Given the description of an element on the screen output the (x, y) to click on. 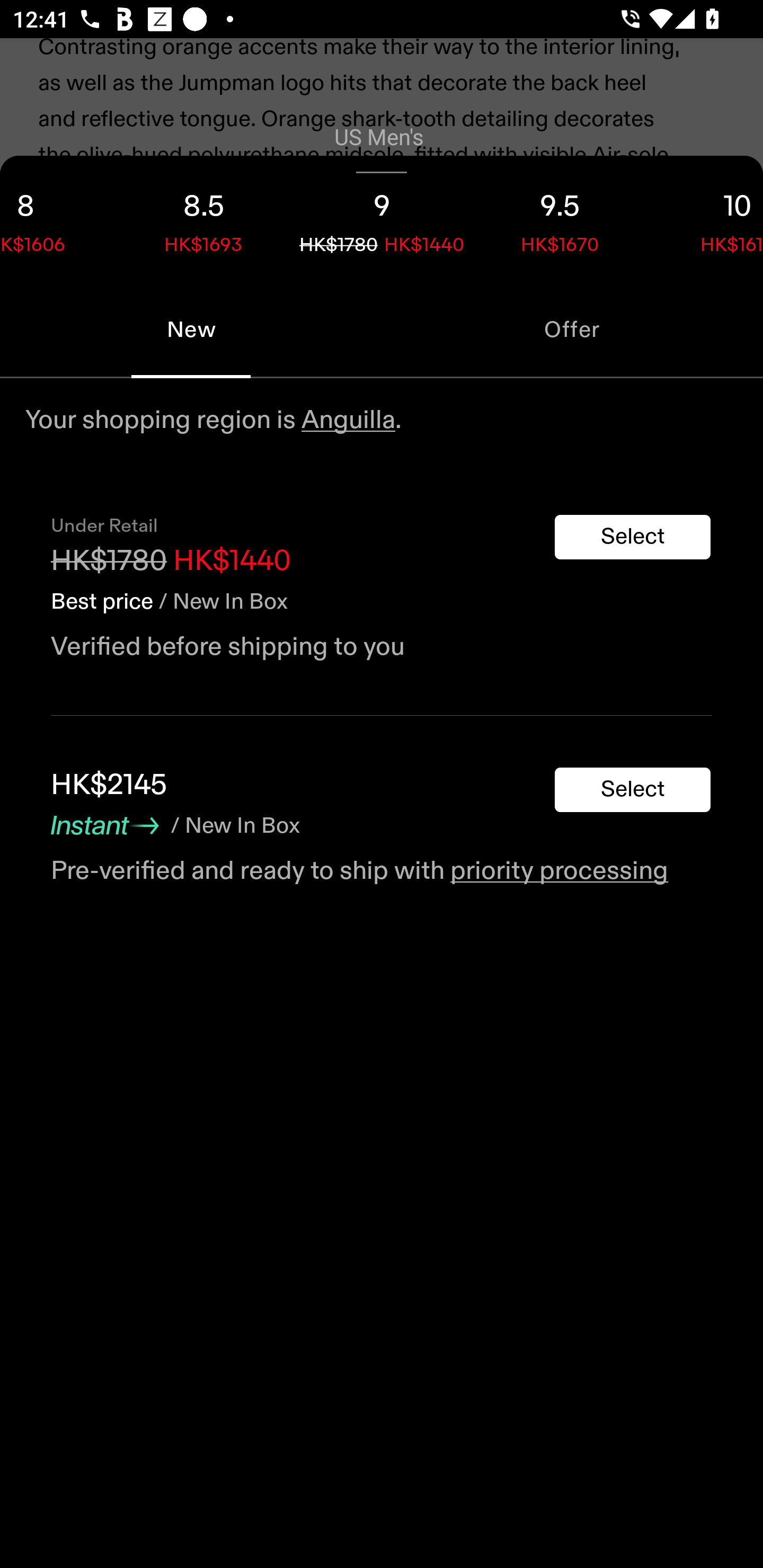
8 HK$1606 (57, 218)
8.5 HK$1693 (203, 218)
9 HK$1780 HK$1440 (381, 218)
9.5 HK$1670 (559, 218)
10 HK$1614 (705, 218)
Offer (572, 329)
Own (381, 408)
Select (632, 536)
HK$2145 (109, 785)
Select (632, 789)
